Given the description of an element on the screen output the (x, y) to click on. 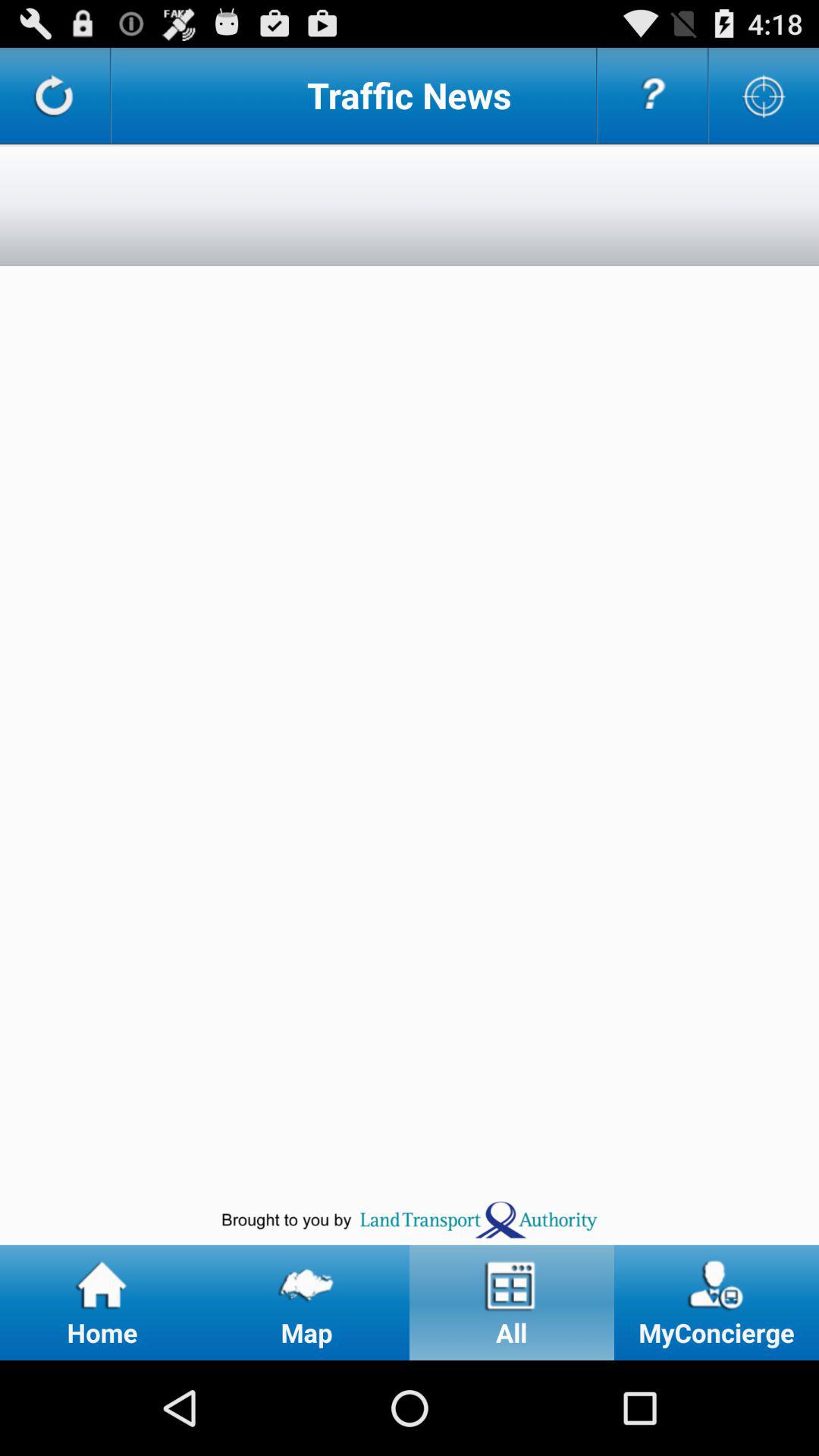
refresh (54, 95)
